Given the description of an element on the screen output the (x, y) to click on. 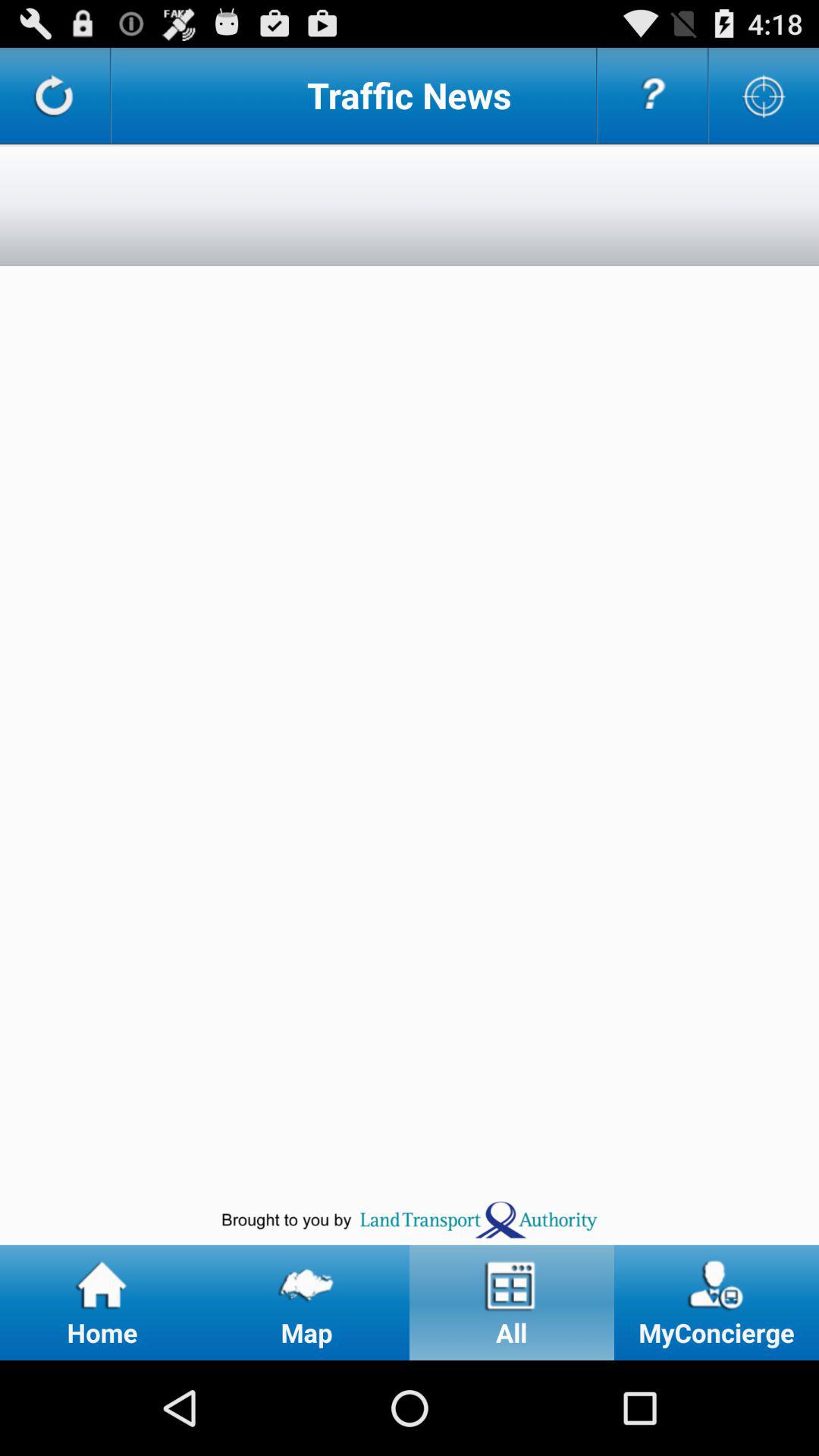
refresh (54, 95)
